Given the description of an element on the screen output the (x, y) to click on. 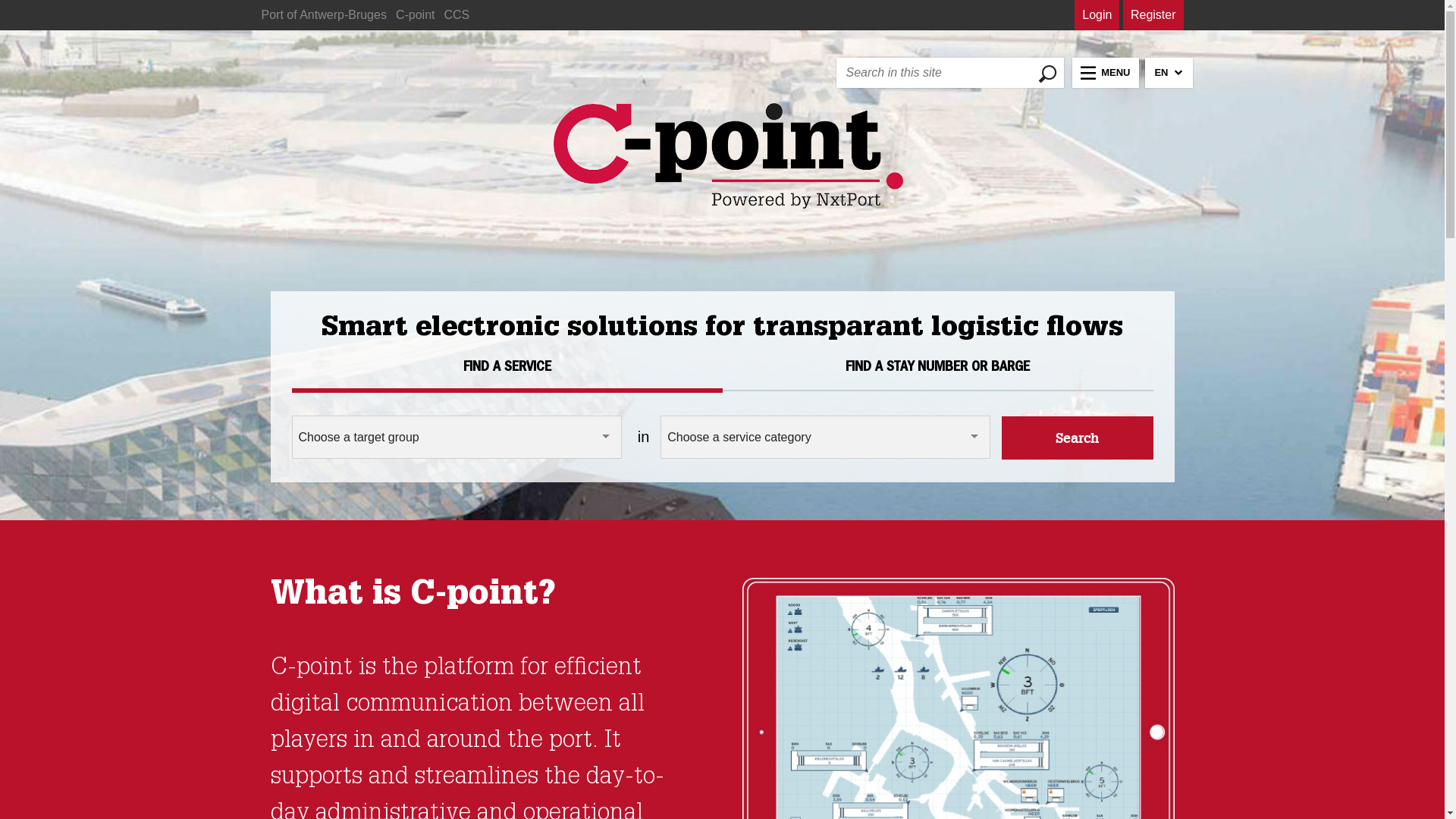
CCS Element type: text (457, 14)
Zoeken Element type: text (1068, 72)
FIND A SERVICE Element type: text (506, 367)
Search Element type: text (1076, 437)
FIND A STAY NUMBER OR BARGE Element type: text (936, 367)
Port of Antwerp-Bruges Element type: text (322, 14)
Home Element type: hover (728, 157)
C-point Element type: text (415, 14)
Login Element type: text (1096, 15)
Register Element type: text (1153, 15)
